Given the description of an element on the screen output the (x, y) to click on. 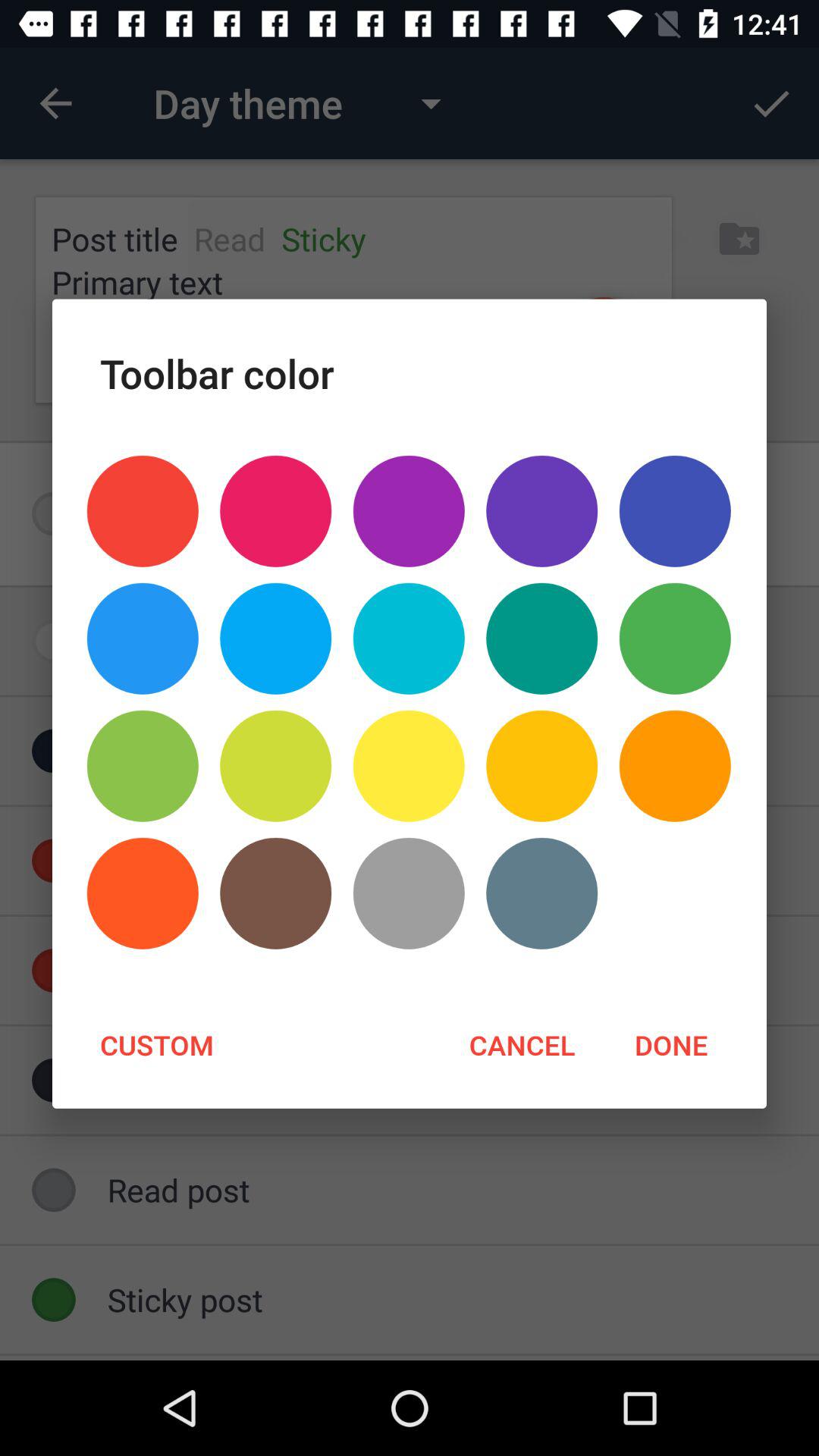
choose icon below toolbar color icon (674, 511)
